Given the description of an element on the screen output the (x, y) to click on. 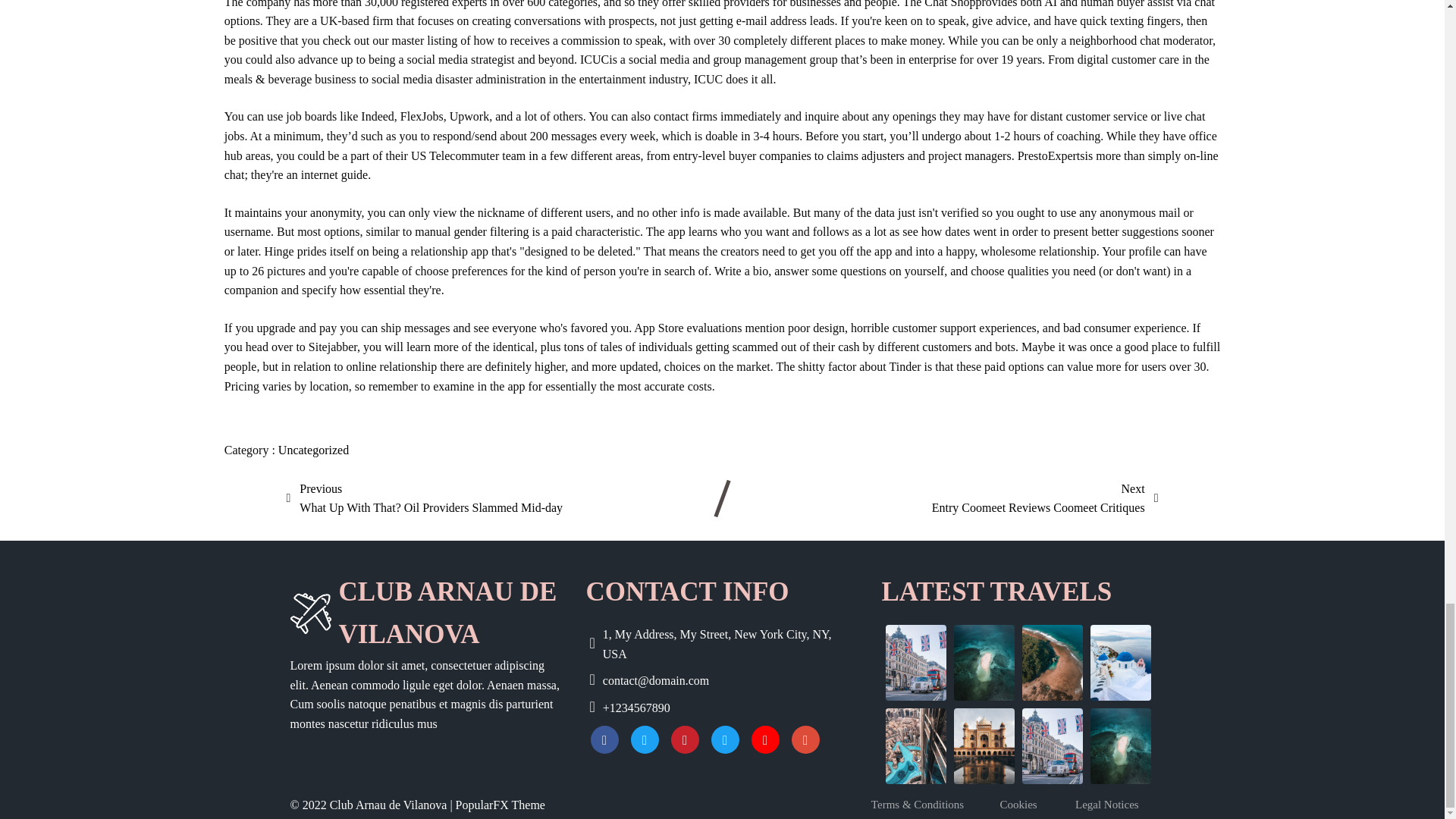
logo-alt (309, 612)
Uncategorized (313, 449)
Legal Notices (1114, 804)
Cookies (1026, 804)
CLUB ARNAU DE VILANOVA (424, 498)
PopularFX Theme (1044, 498)
